Given the description of an element on the screen output the (x, y) to click on. 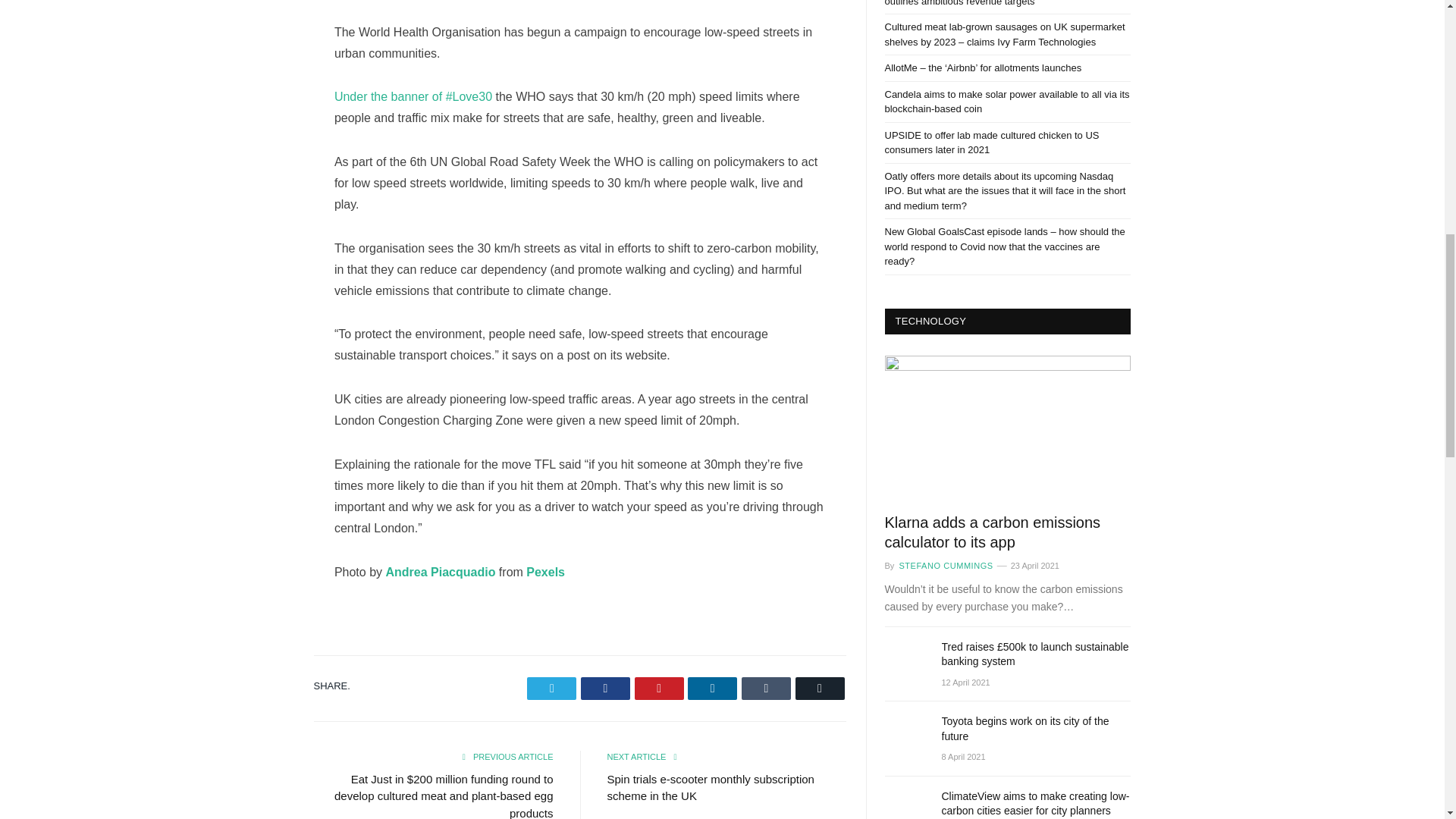
Pexels (544, 571)
Andrea Piacquadio (440, 571)
Facebook (605, 688)
LinkedIn (711, 688)
Spin trials e-scooter monthly subscription scheme in the UK (710, 788)
Tumblr (765, 688)
Pinterest (659, 688)
Twitter (551, 688)
Email (819, 688)
